Given the description of an element on the screen output the (x, y) to click on. 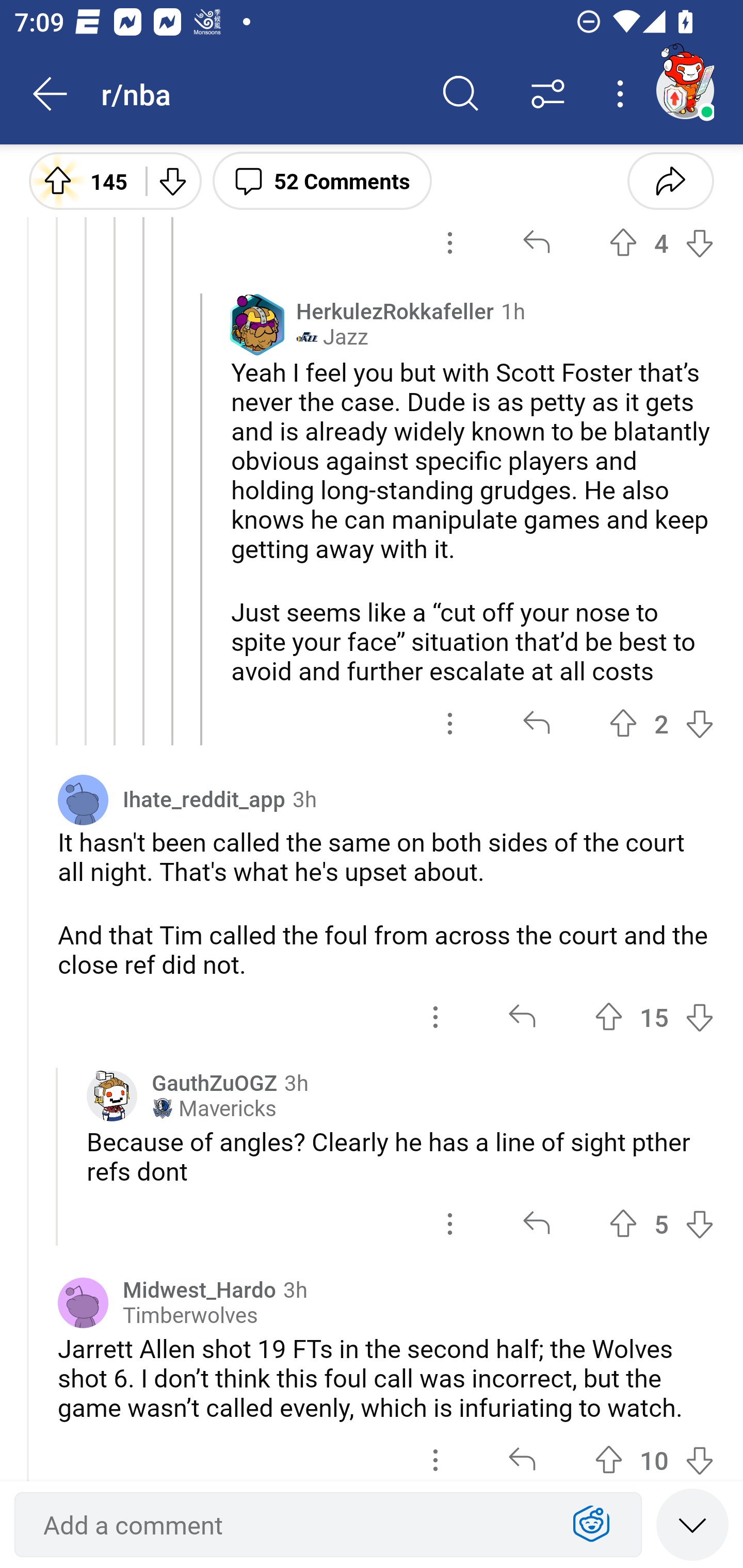
Back (50, 93)
TestAppium002 account (685, 90)
Search comments (460, 93)
Sort comments (547, 93)
More options (623, 93)
r/nba (259, 92)
Upvote 145 (79, 180)
Downvote (171, 180)
52 Comments (321, 180)
Share (670, 180)
options (449, 242)
Upvote 4 4 votes Downvote (661, 242)
￼ Jazz (332, 336)
options (449, 723)
Upvote 2 2 votes Downvote (661, 723)
Avatar (82, 799)
options (435, 1017)
Upvote 15 15 votes Downvote (654, 1017)
Custom avatar (111, 1095)
￼ Mavericks (214, 1108)
options (449, 1224)
Upvote 5 5 votes Downvote (661, 1224)
Avatar (82, 1302)
Timberwolves (190, 1315)
options (435, 1452)
Upvote 10 10 votes Downvote (654, 1452)
Speed read (692, 1524)
Add a comment (291, 1524)
Show Expressions (590, 1524)
